Given the description of an element on the screen output the (x, y) to click on. 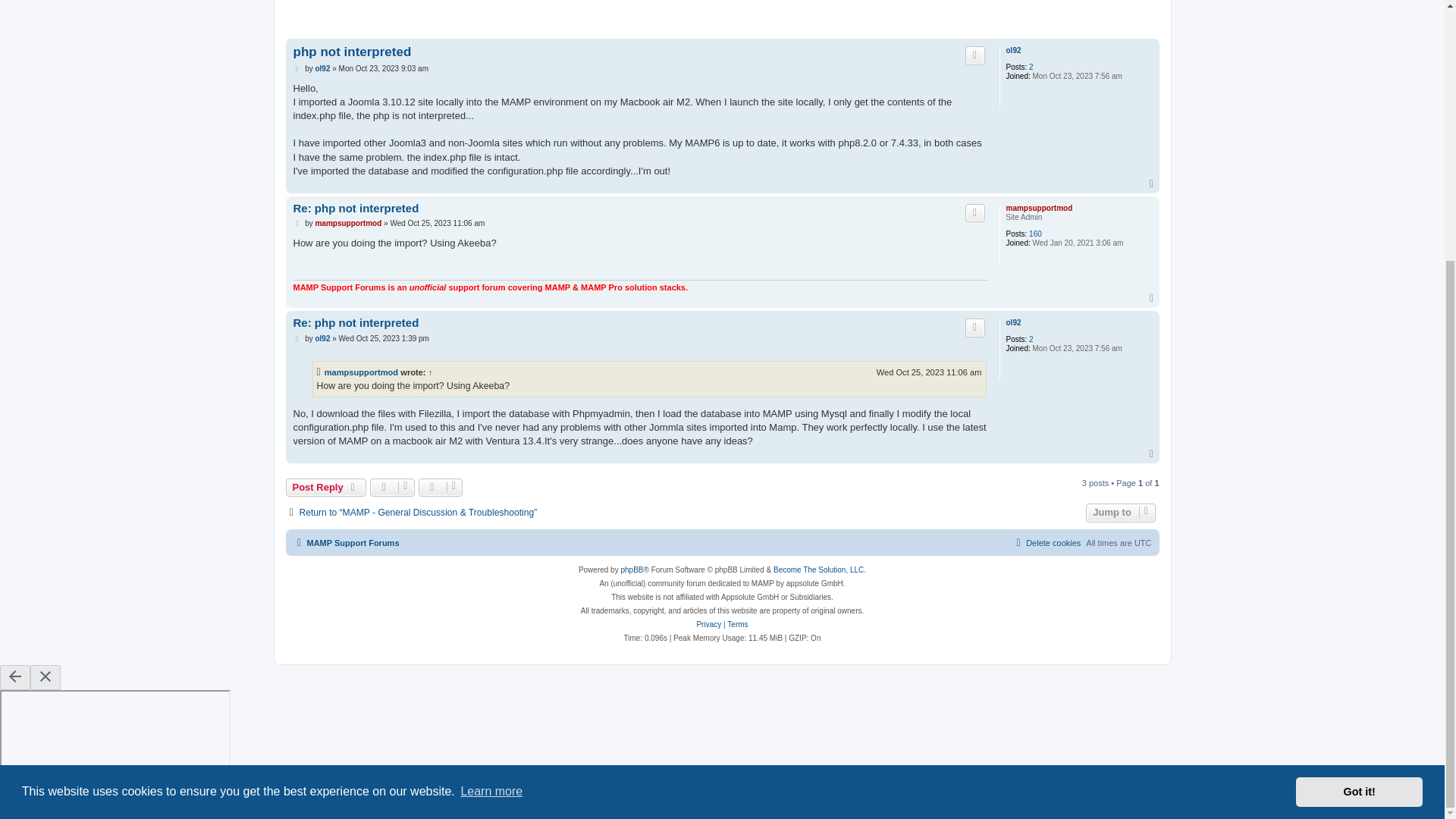
160 (1035, 234)
Reply with quote (975, 212)
ol92 (1013, 50)
Post (297, 223)
Post (297, 223)
Top (1151, 298)
Top (1151, 184)
Post (297, 68)
Top (1151, 184)
php not interpreted (351, 51)
Quote (975, 54)
mampsupportmod (347, 223)
Quote (975, 212)
Re: php not interpreted (355, 208)
Top (1151, 298)
